Given the description of an element on the screen output the (x, y) to click on. 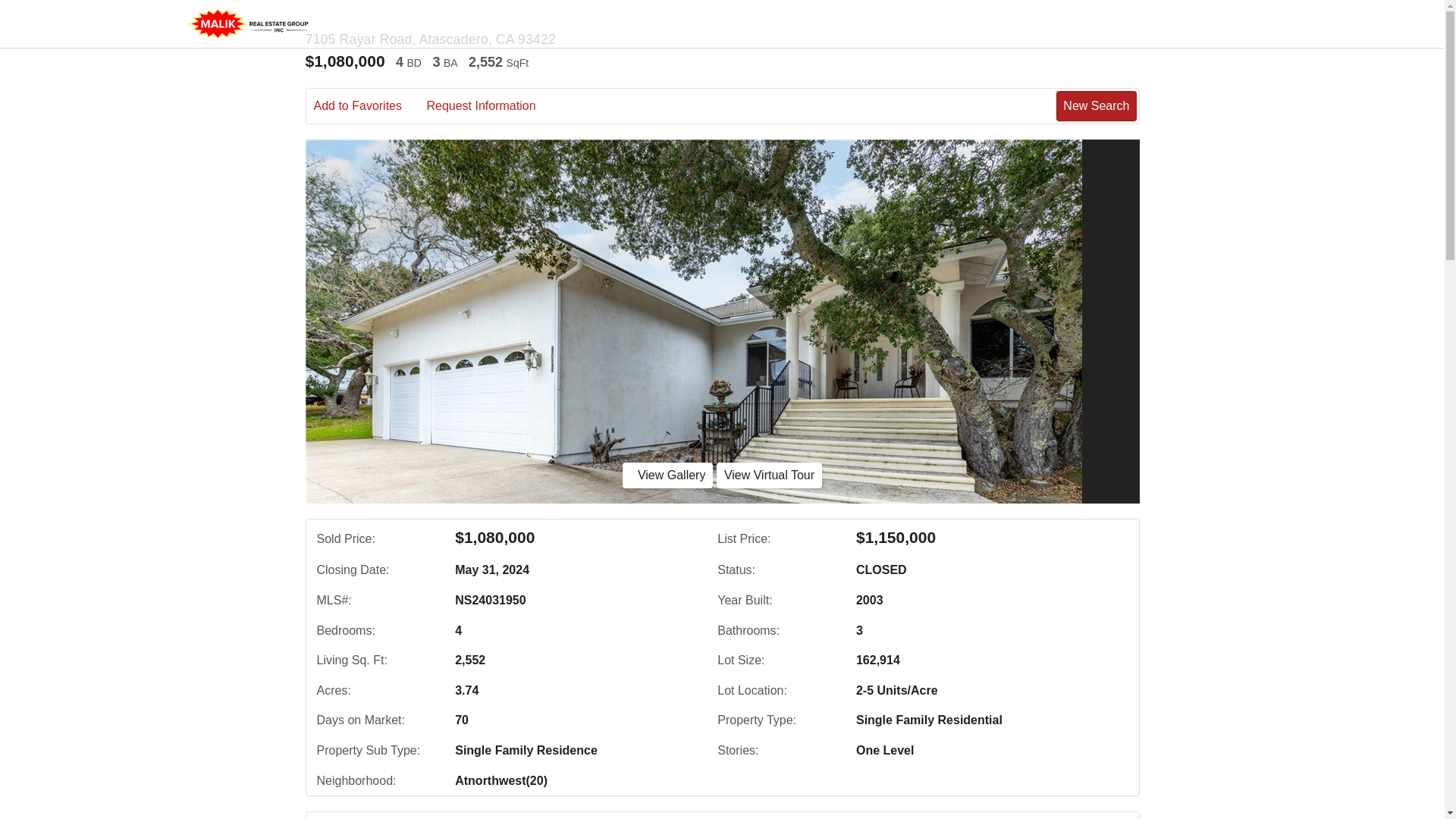
View Gallery (668, 475)
New Search (1094, 818)
New Search (1096, 105)
Call Us (427, 818)
View Virtual Tour (769, 475)
Add to Favorites (368, 106)
Share (583, 818)
View Gallery (668, 474)
Request Information (491, 106)
